Given the description of an element on the screen output the (x, y) to click on. 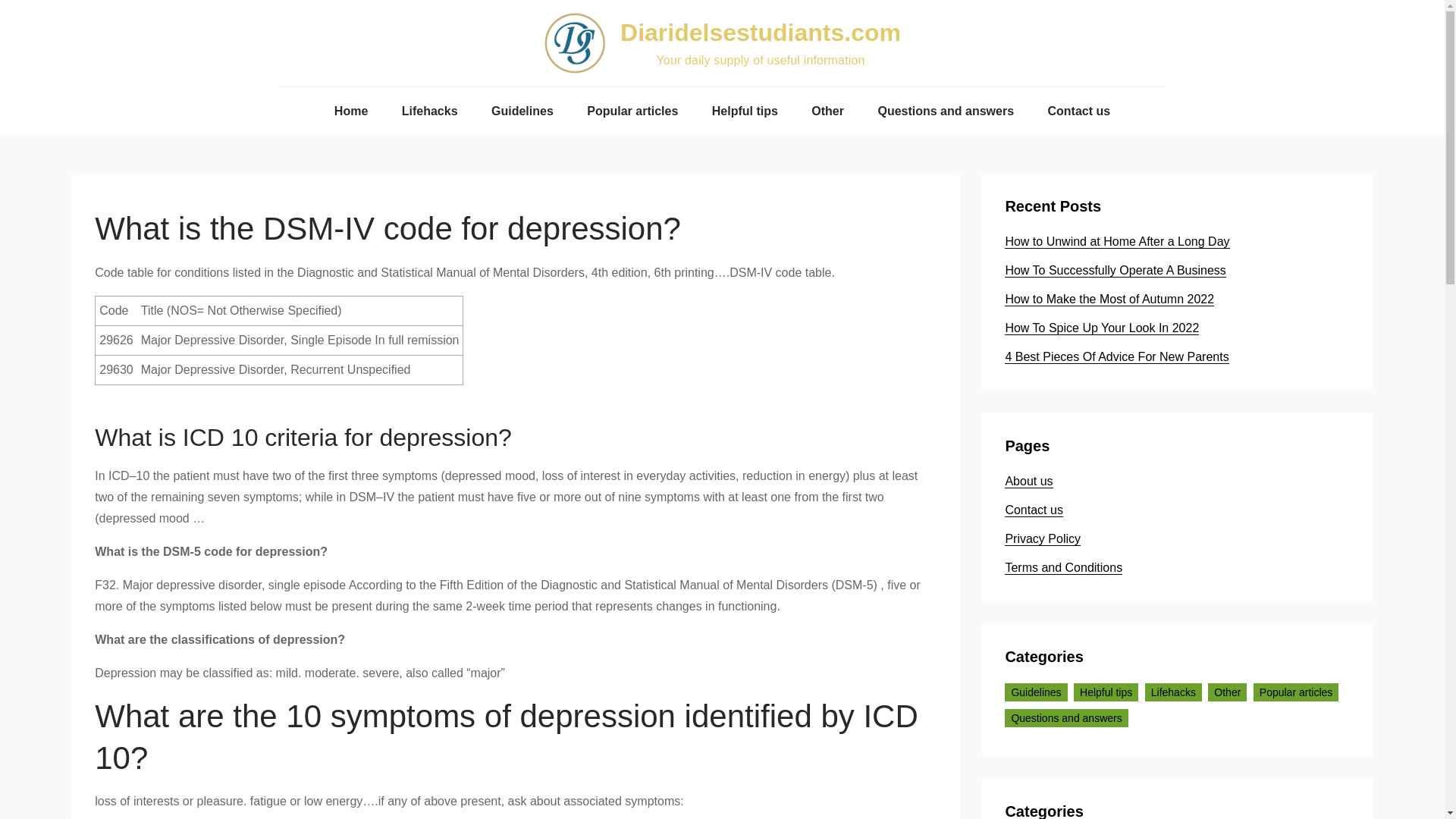
Lifehacks (1173, 692)
Helpful tips (745, 110)
Home (350, 110)
Lifehacks (430, 110)
Other (1227, 692)
Terms and Conditions (1063, 567)
Privacy Policy (1042, 539)
Helpful tips (1106, 692)
Guidelines (1035, 692)
Popular articles (632, 110)
